Given the description of an element on the screen output the (x, y) to click on. 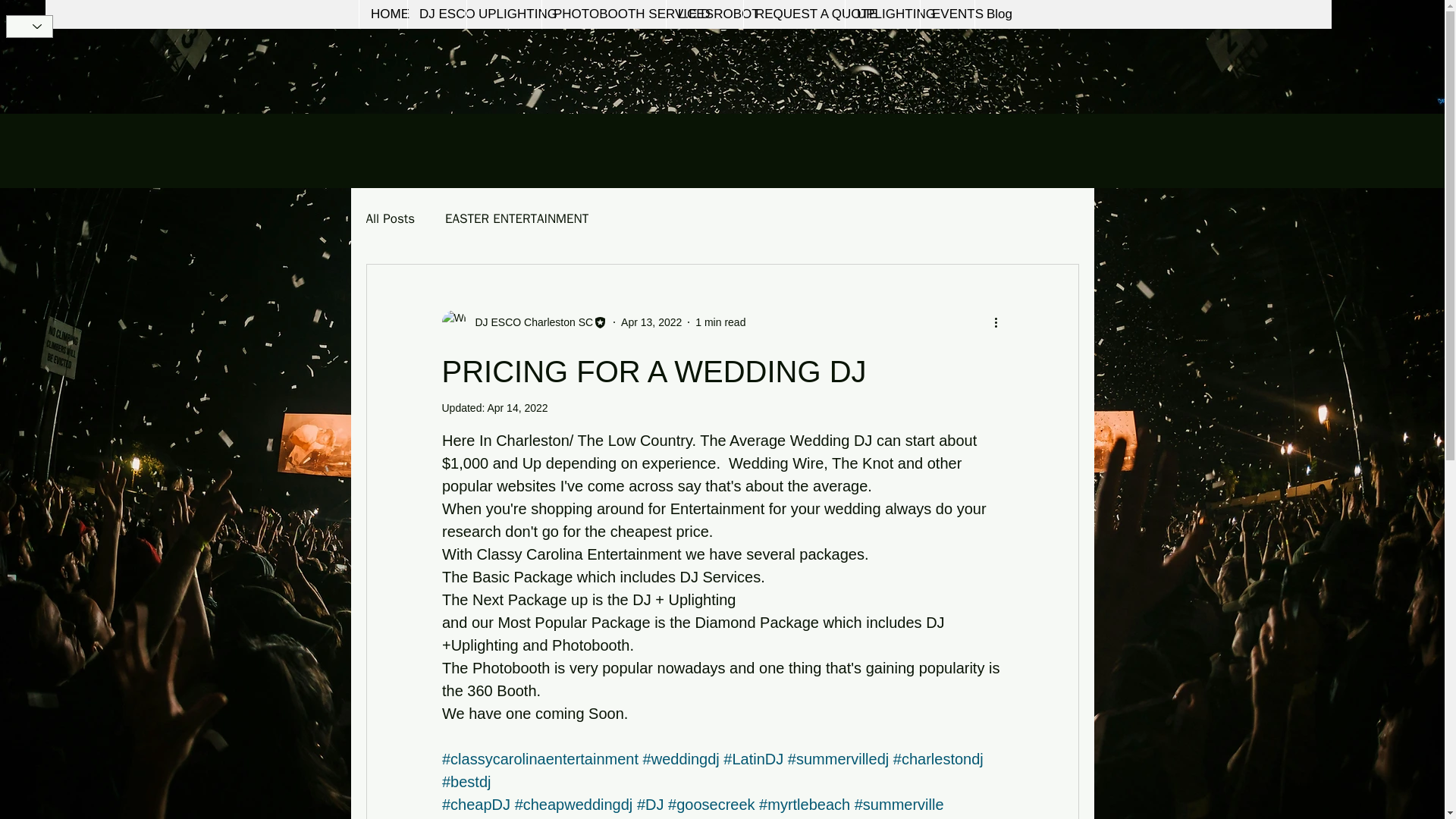
Apr 14, 2022 (516, 408)
DJ ESCO (436, 14)
EASTER ENTERTAINMENT (516, 217)
UPLIGHTING (503, 14)
Blog (995, 14)
UPLIGHTING (882, 14)
Apr 13, 2022 (651, 321)
PHOTOBOOTH SERVICES (603, 14)
EVENTS (947, 14)
1 min read (720, 321)
L.E.D ROBOT (703, 14)
REQUEST A QUOTE (793, 14)
All Posts (389, 217)
HOME (382, 14)
DJ ESCO Charleston SC (524, 322)
